Given the description of an element on the screen output the (x, y) to click on. 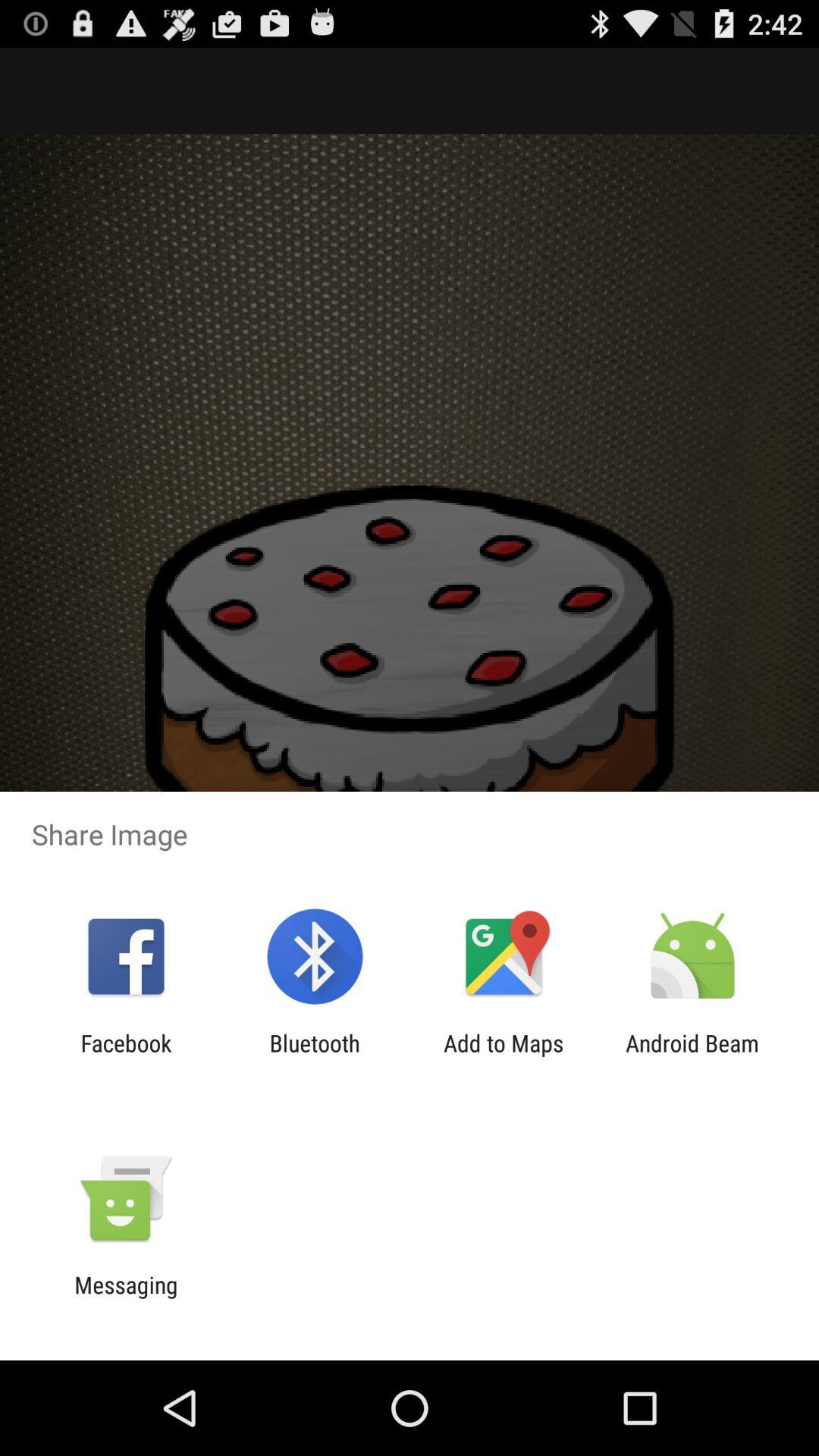
open the item to the right of the facebook icon (314, 1056)
